Given the description of an element on the screen output the (x, y) to click on. 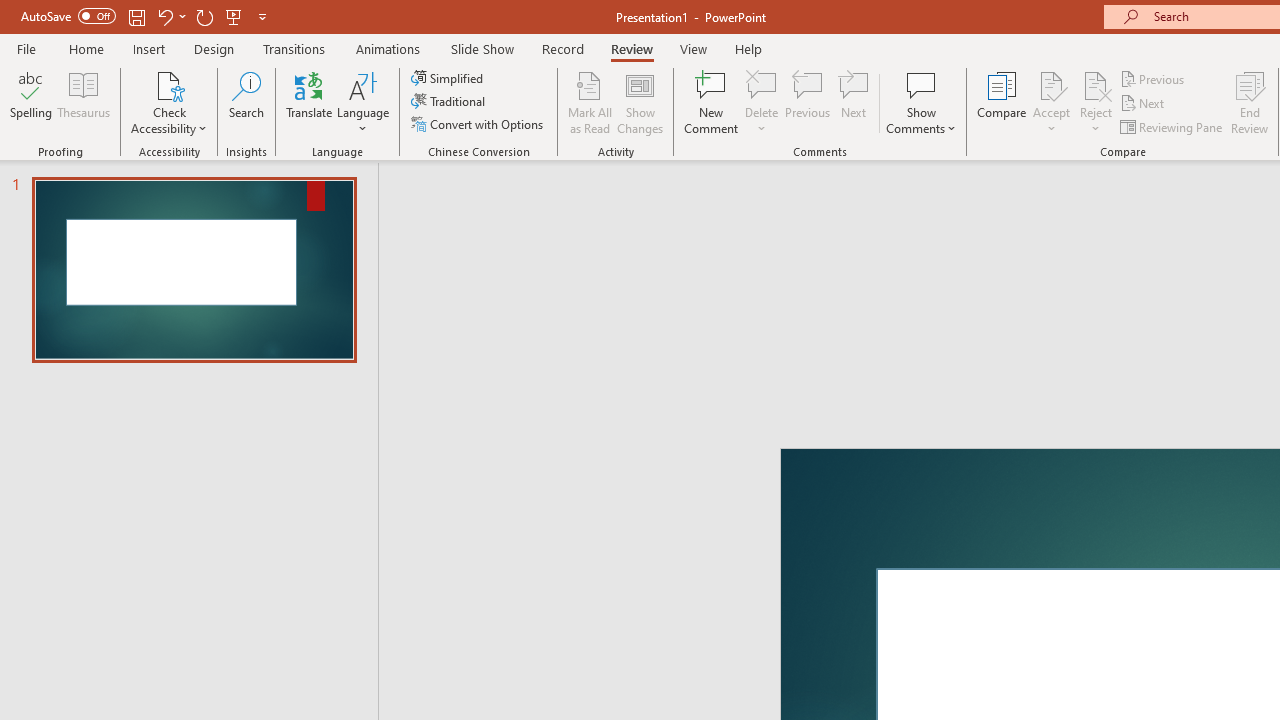
End Review (1249, 102)
Traditional (449, 101)
Show Changes (639, 102)
